Given the description of an element on the screen output the (x, y) to click on. 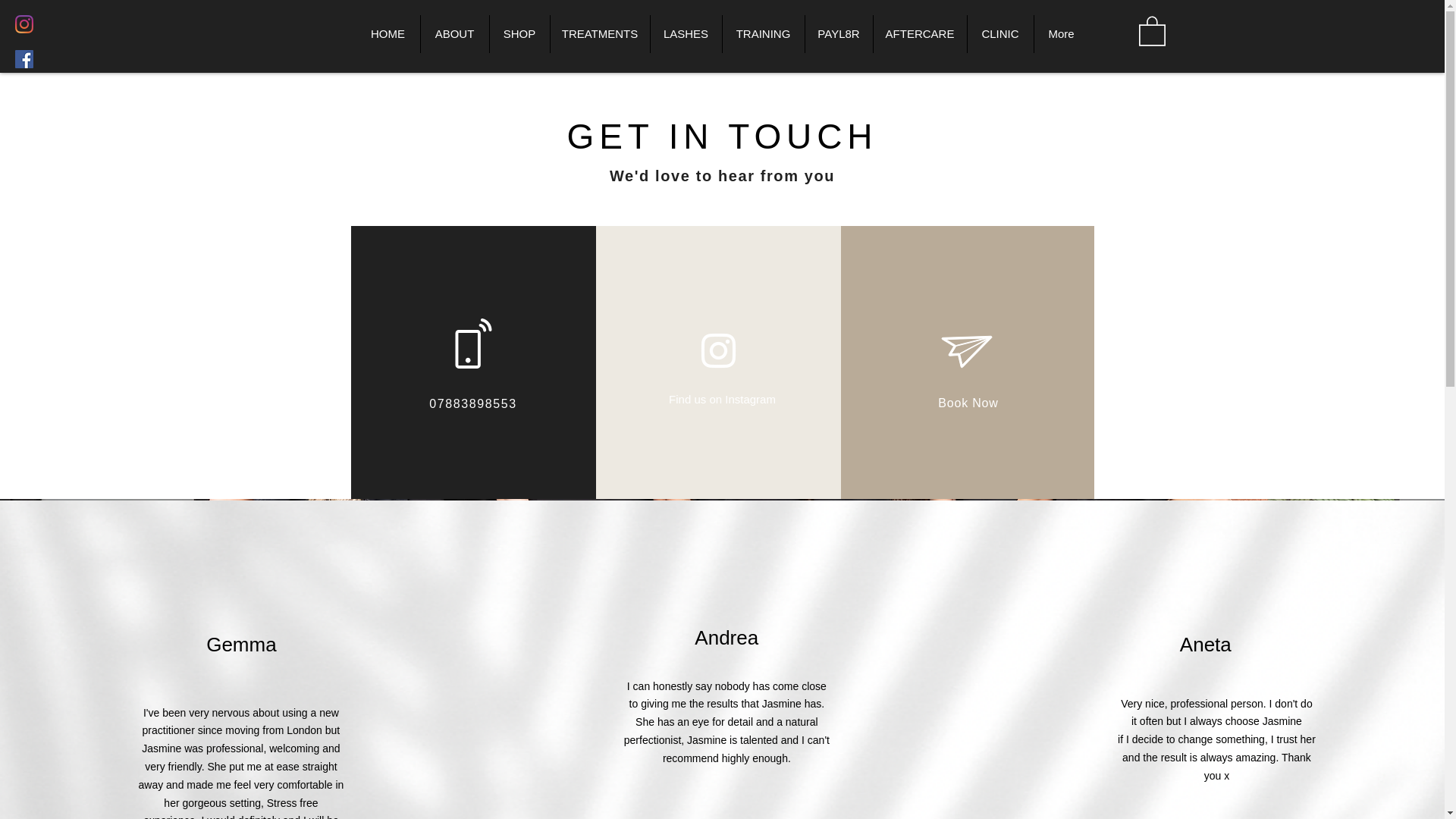
Book Now (967, 402)
CLINIC (999, 34)
Find us on Instagram (721, 399)
TRAINING (763, 34)
HOME (388, 34)
TREATMENTS (598, 34)
AFTERCARE (919, 34)
ABOUT (454, 34)
LASHES (684, 34)
SHOP (517, 34)
PAYL8R (837, 34)
